Given the description of an element on the screen output the (x, y) to click on. 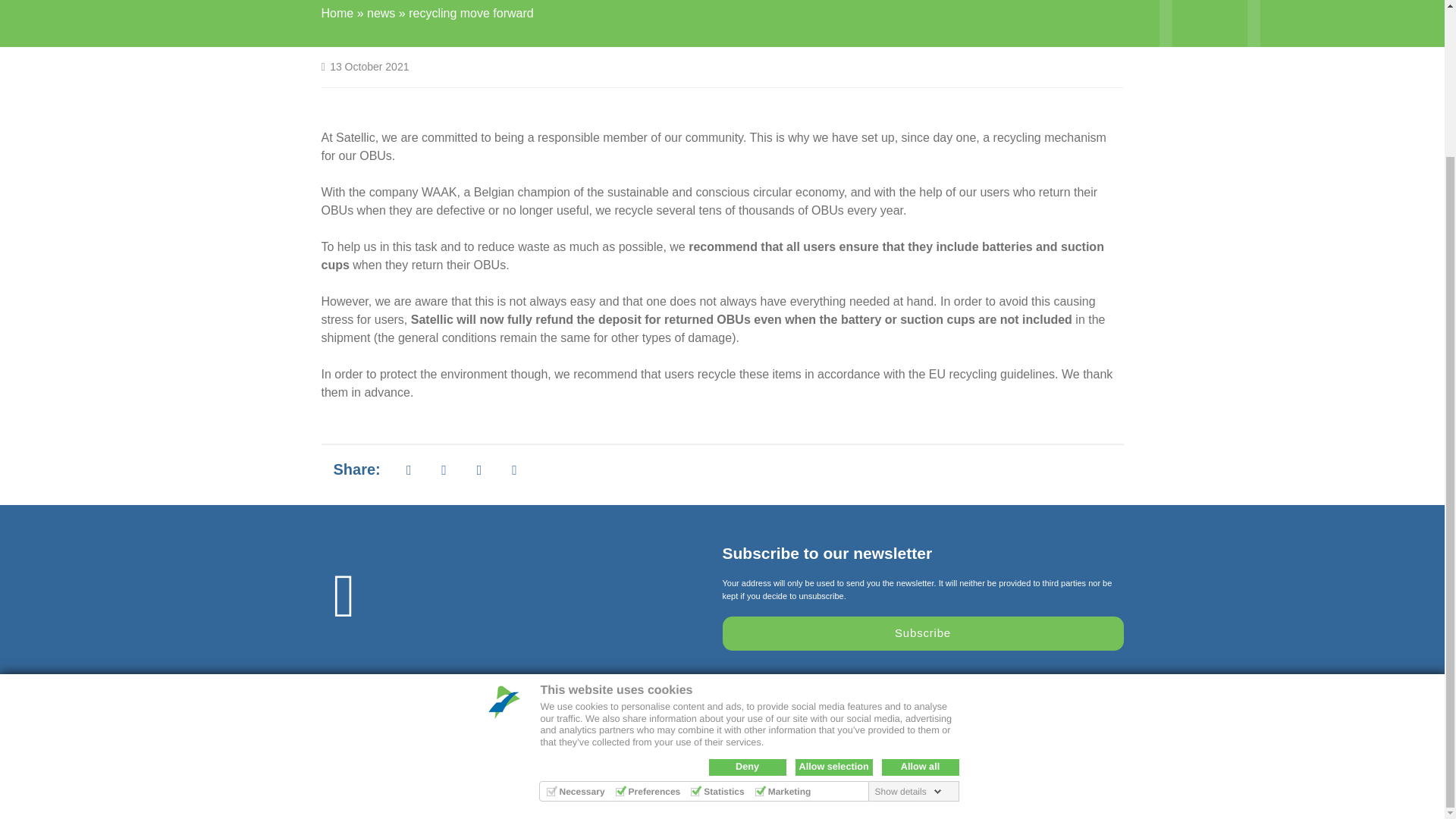
Allow selection (833, 583)
Deny (746, 583)
Show details (908, 607)
Allow all (919, 583)
